Given the description of an element on the screen output the (x, y) to click on. 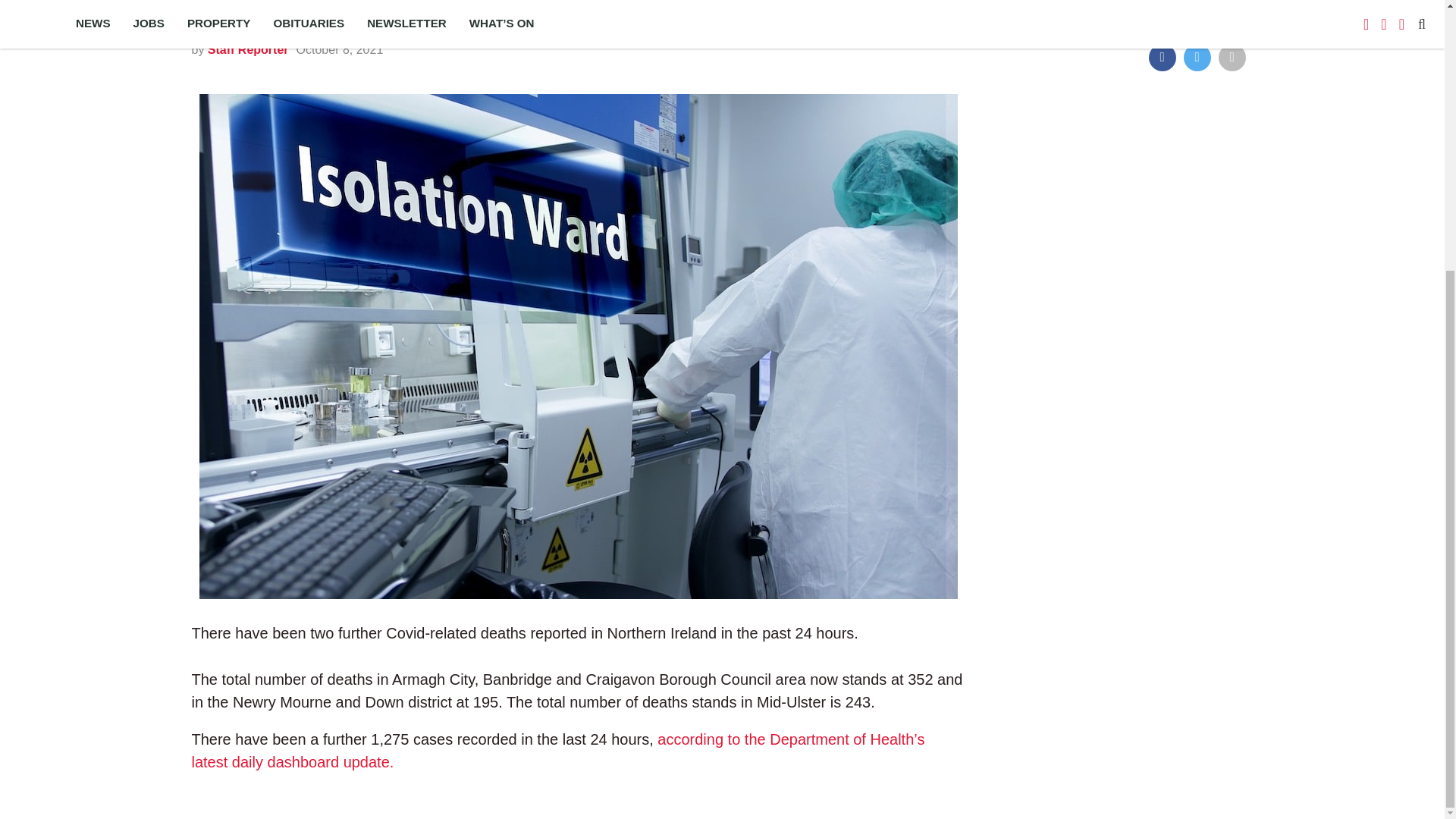
Posts by Staff Reporter (248, 49)
